Given the description of an element on the screen output the (x, y) to click on. 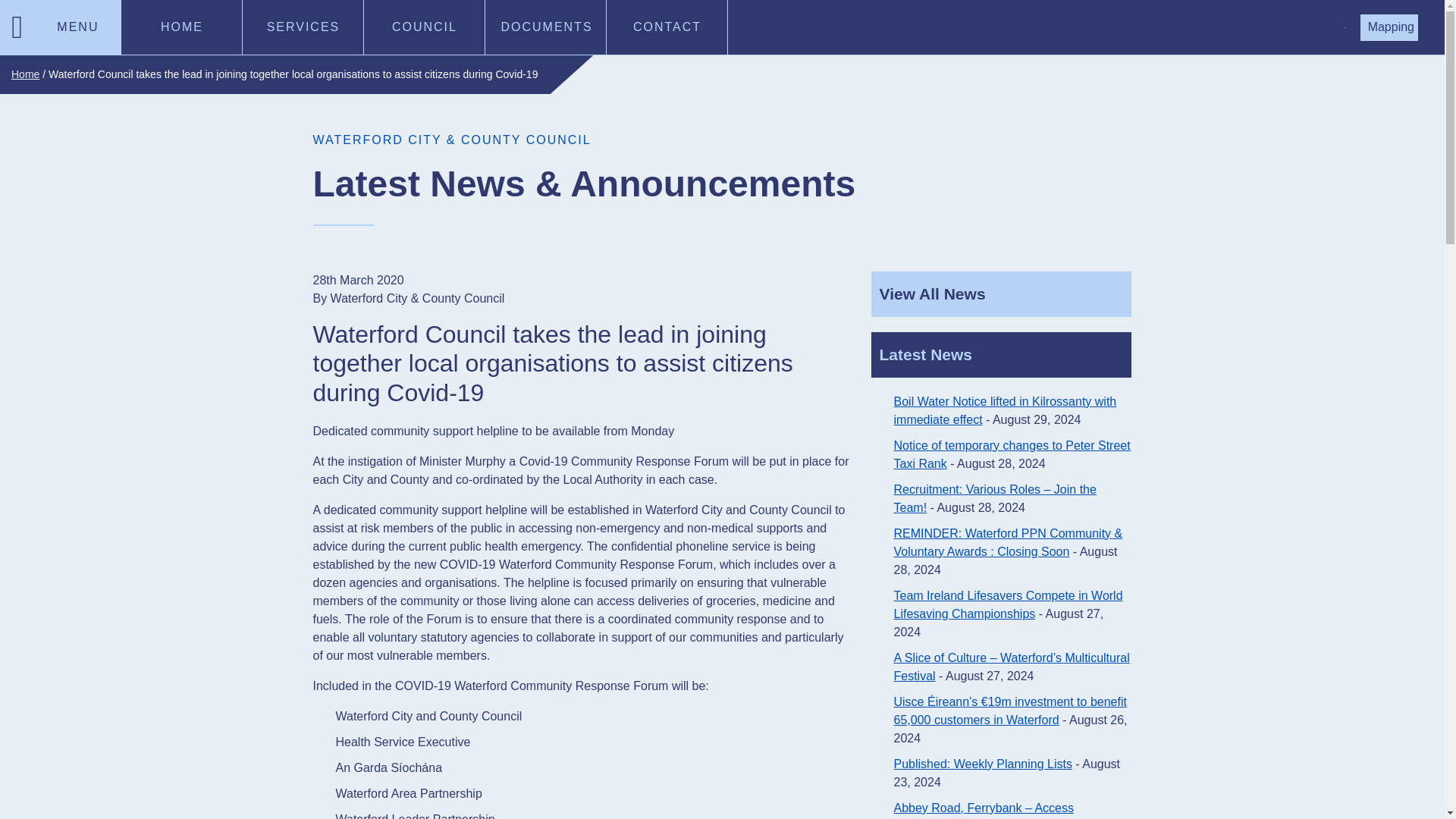
Notice of temporary changes to Peter Street Taxi Rank (1011, 454)
View All News (1000, 293)
Published: Weekly Planning Lists (982, 763)
